Given the description of an element on the screen output the (x, y) to click on. 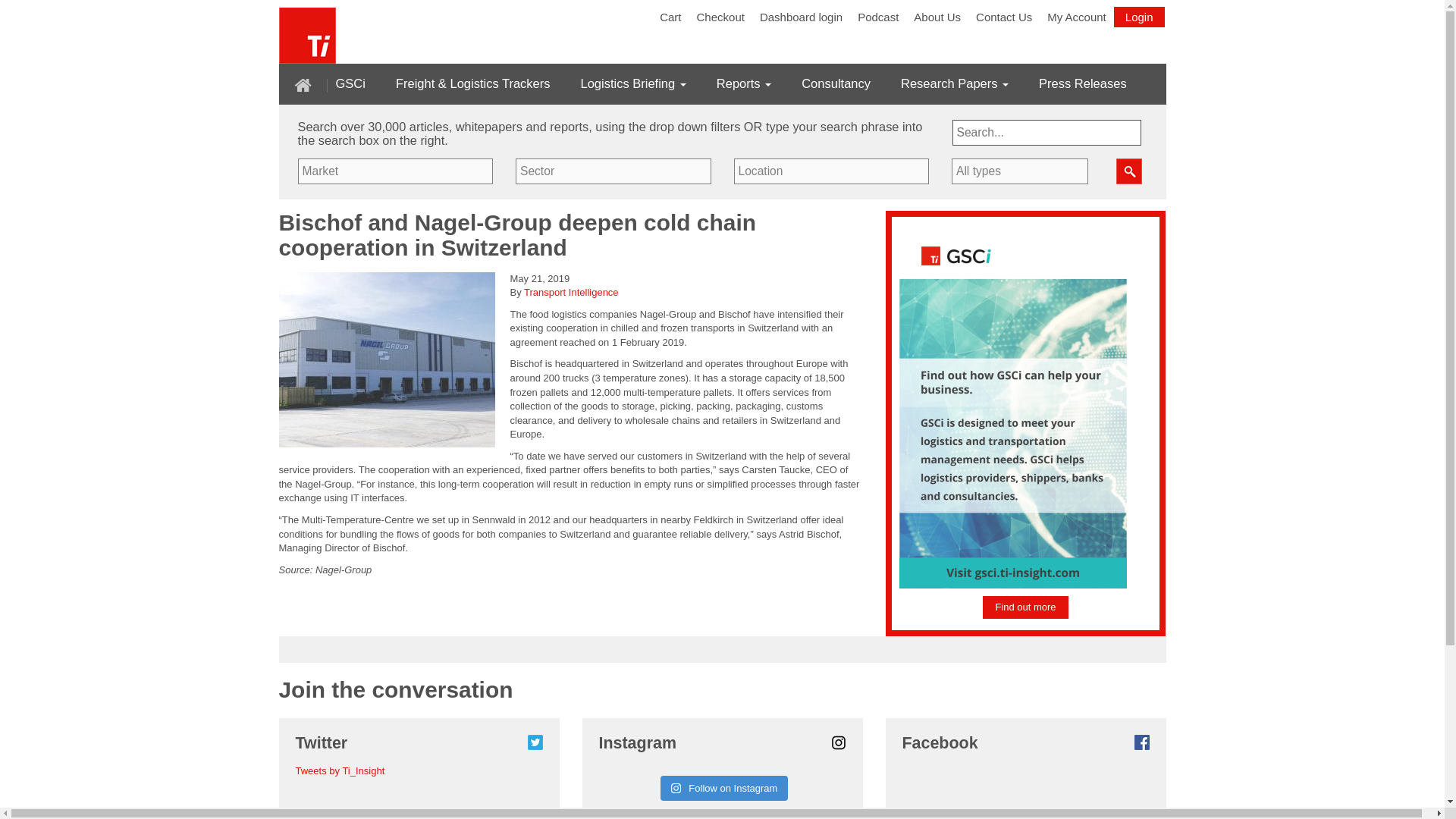
Contact Us (1003, 16)
Reports (743, 83)
About Us (936, 16)
Find out more (1024, 607)
Cart (670, 16)
Dashboard login (801, 16)
Podcast (877, 16)
Checkout (720, 16)
Podcast (877, 16)
Login (1138, 16)
